Given the description of an element on the screen output the (x, y) to click on. 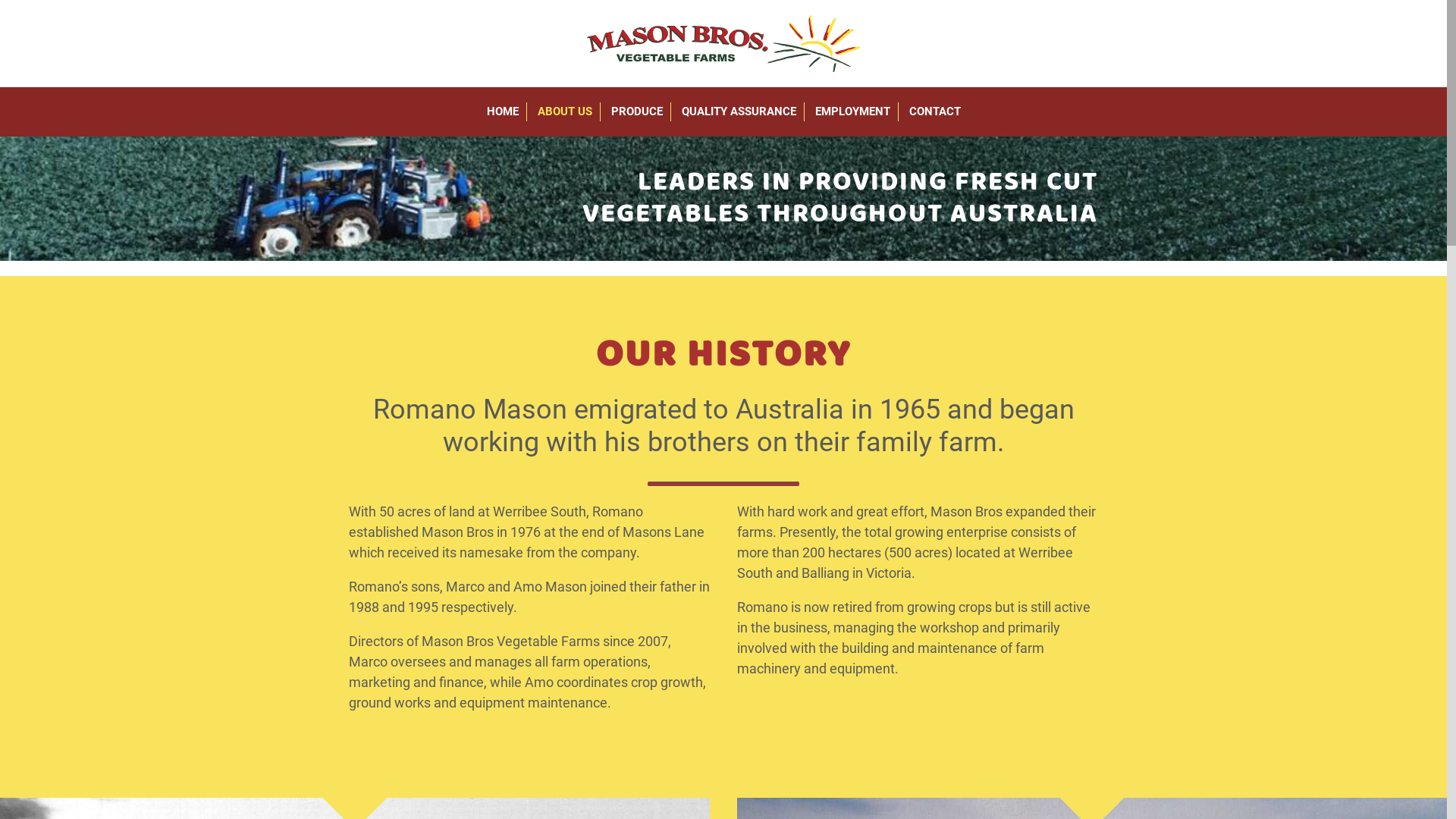
ABOUT US Element type: text (564, 111)
QUALITY ASSURANCE Element type: text (738, 111)
EMPLOYMENT Element type: text (851, 111)
PRODUCE Element type: text (636, 111)
HOME Element type: text (502, 111)
CONTACT Element type: text (933, 111)
